Given the description of an element on the screen output the (x, y) to click on. 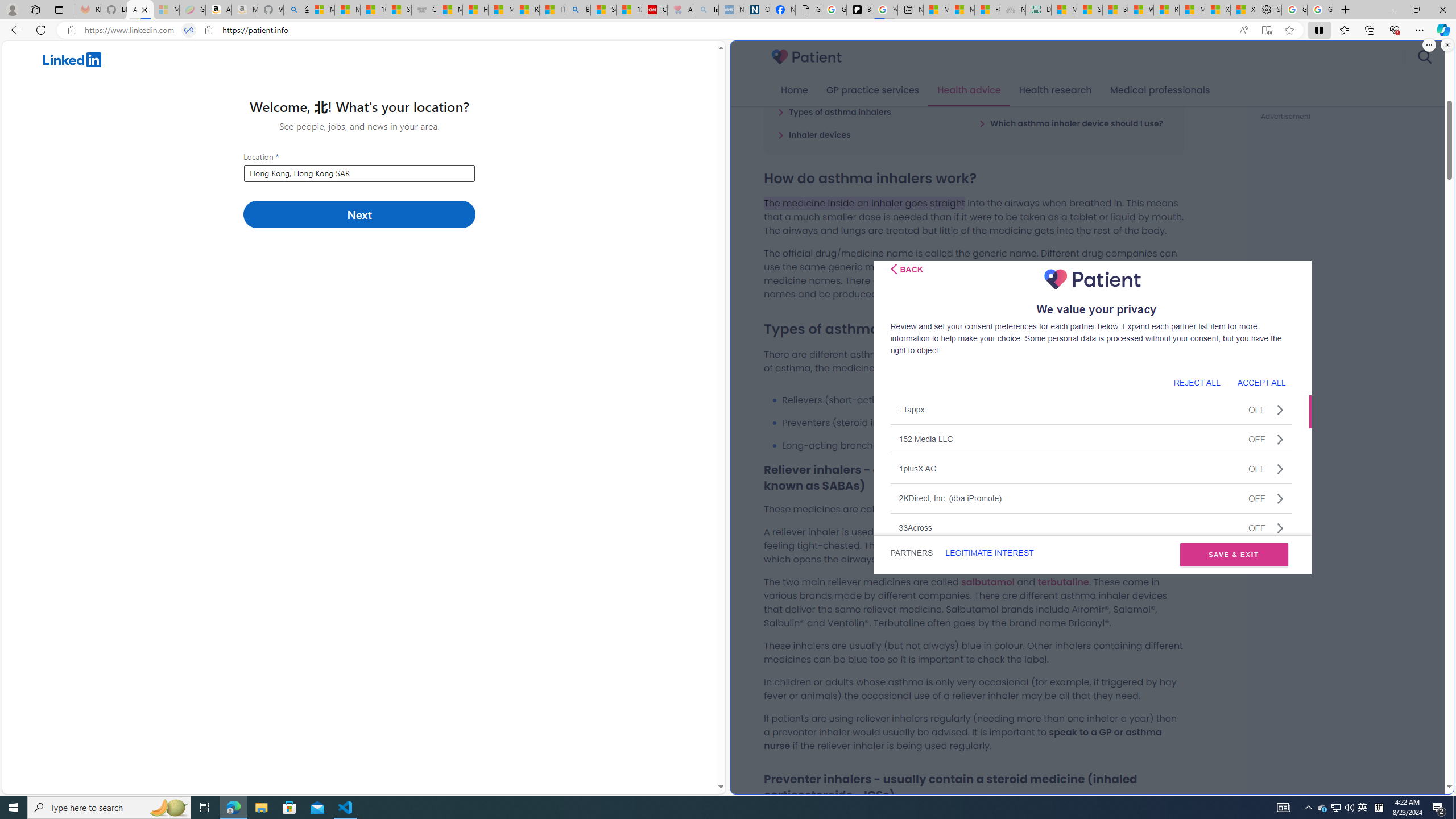
App bar (728, 29)
How I Got Rid of Microsoft Edge's Unnecessary Features (475, 9)
Science - MSN (603, 9)
33AcrossOFF (1090, 527)
NCL Adult Asthma Inhaler Choice Guideline - Sleeping (730, 9)
Recipes - MSN (526, 9)
12 Popular Science Lies that Must be Corrected (628, 9)
FOX News - MSN (986, 9)
2KDirect, Inc. (dba iPromote)OFF (1090, 498)
Home (793, 90)
